Given the description of an element on the screen output the (x, y) to click on. 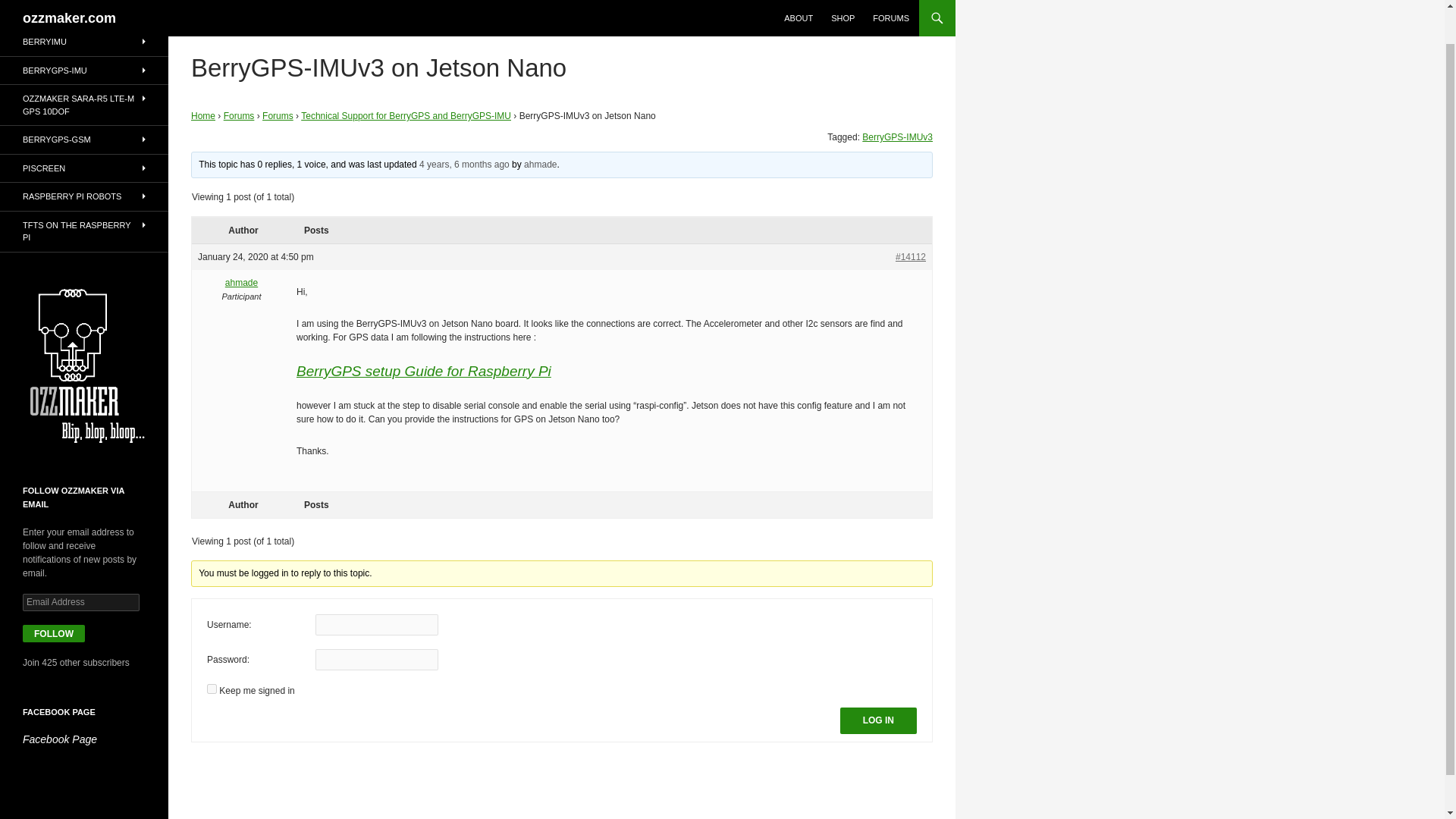
BERRYIMU (84, 41)
BERRYGPS-IMU (84, 70)
ahmade (241, 282)
Technical Support for BerryGPS and BerryGPS-IMU (406, 115)
BerryGPS setup Guide for Raspberry Pi (424, 371)
ahmade (540, 163)
Forums (239, 115)
View ahmade's profile (540, 163)
4 years, 6 months ago (464, 163)
Home (202, 115)
